Given the description of an element on the screen output the (x, y) to click on. 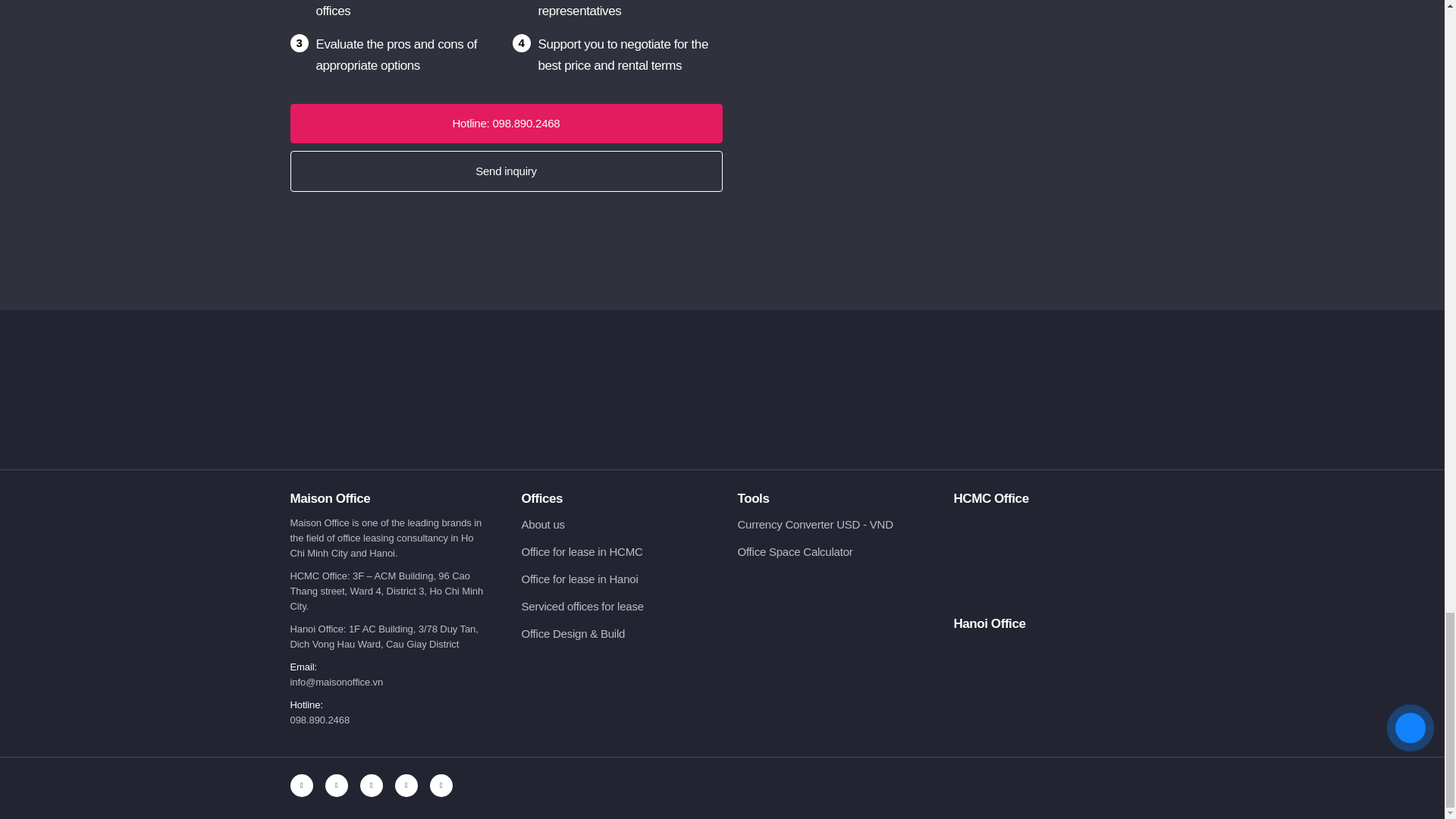
DMCA.com Protection Status (836, 639)
